Given the description of an element on the screen output the (x, y) to click on. 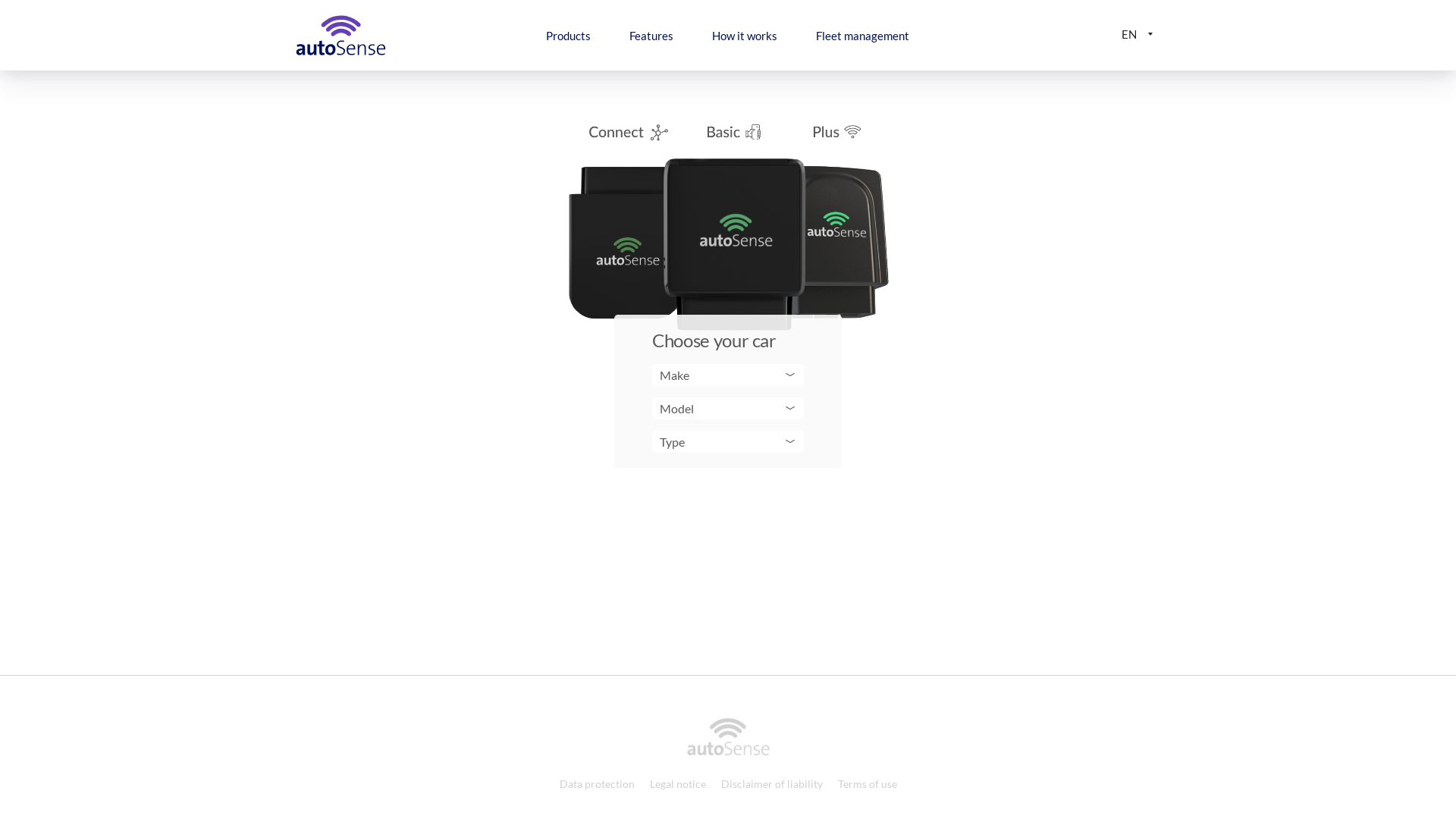
Products Element type: text (568, 35)
EN Element type: text (1136, 34)
Terms of use Element type: text (866, 783)
Legal notice Element type: text (676, 783)
Disclaimer of liability Element type: text (770, 783)
Data protection Element type: text (597, 783)
How it works Element type: text (744, 35)
Fleet management Element type: text (862, 35)
Features Element type: text (651, 35)
